Given the description of an element on the screen output the (x, y) to click on. 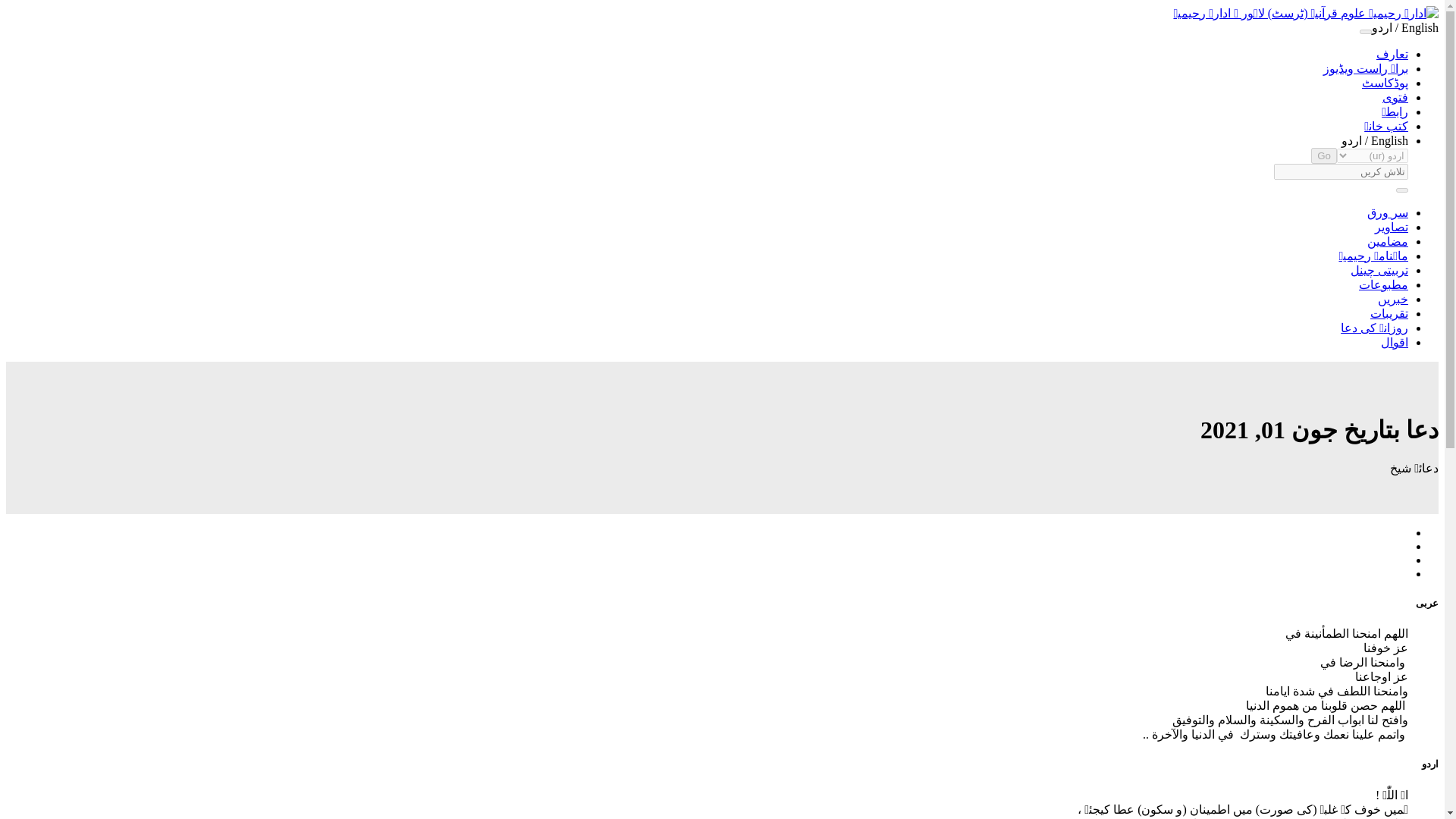
Go (1323, 155)
Go (1323, 155)
English (1389, 140)
English (1389, 140)
